Given the description of an element on the screen output the (x, y) to click on. 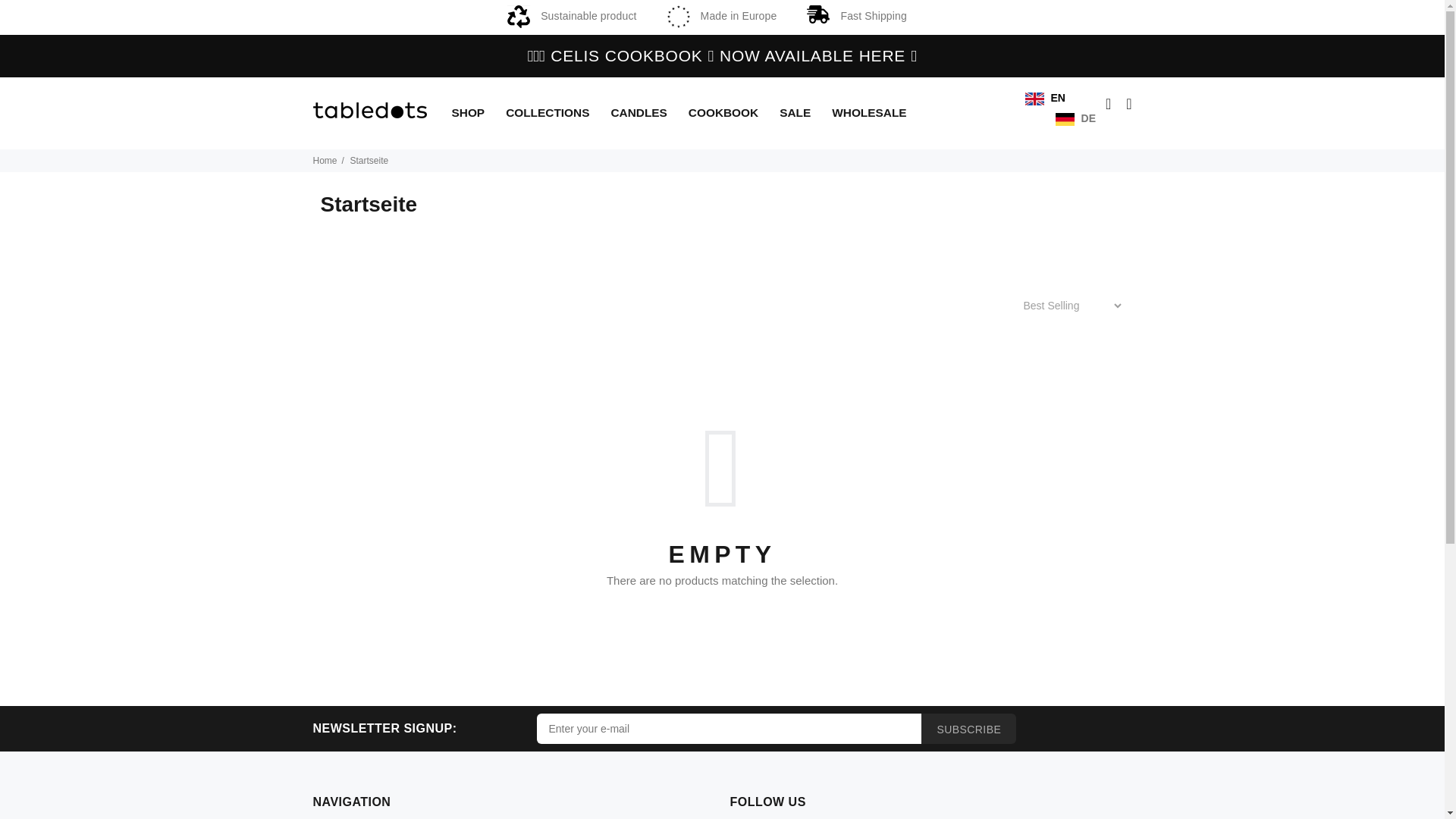
Made in Europe (721, 15)
COLLECTIONS (548, 113)
Sustainable product (571, 15)
SALE (796, 113)
DE (1075, 118)
WHOLESALE (863, 113)
Fast Shipping (855, 15)
COOKBOOK (724, 113)
SHOP (469, 113)
CANDLES (639, 113)
